Given the description of an element on the screen output the (x, y) to click on. 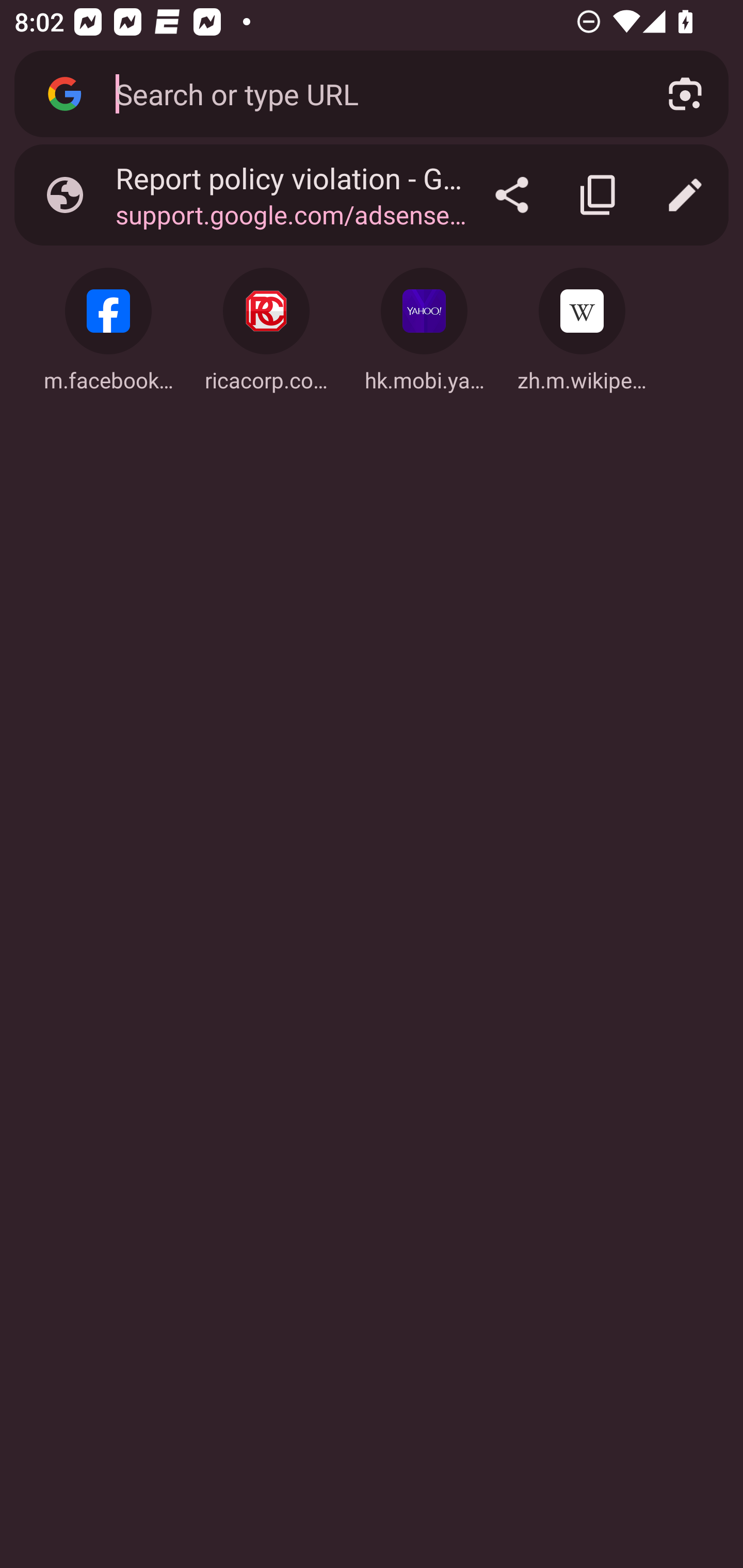
Search with your camera using Google Lens (684, 93)
Search or type URL (367, 92)
Share… (511, 195)
Copy link (598, 195)
Edit (684, 195)
